Given the description of an element on the screen output the (x, y) to click on. 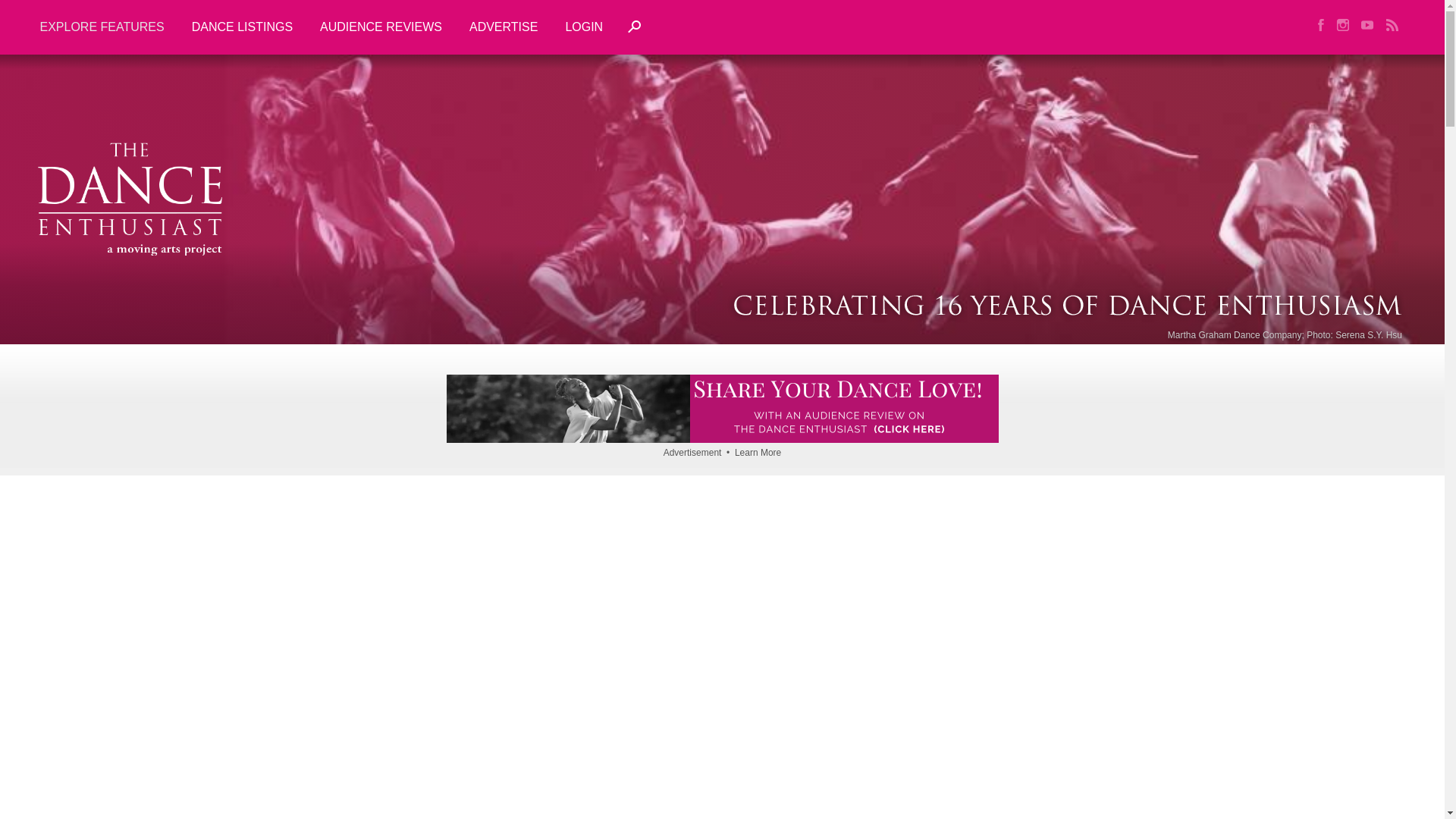
LOGIN (583, 27)
DANCE LISTINGS (241, 27)
AUDIENCE REVIEWS (380, 27)
EXPLORE FEATURES (108, 27)
ADVERTISE (503, 27)
